Given the description of an element on the screen output the (x, y) to click on. 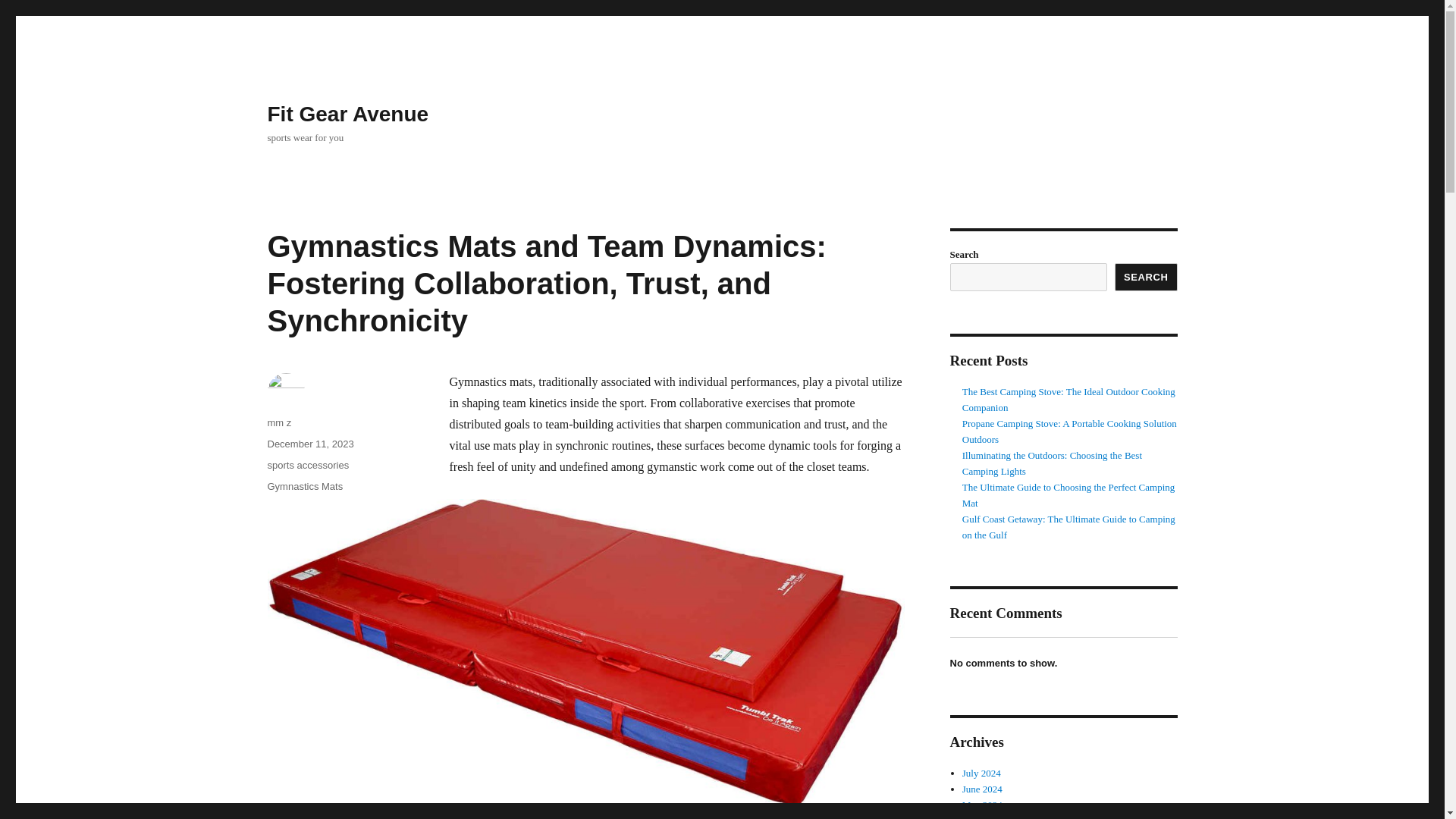
Fit Gear Avenue (347, 114)
mm z (278, 422)
The Ultimate Guide to Choosing the Perfect Camping Mat (1068, 494)
The Best Camping Stove: The Ideal Outdoor Cooking Companion (1068, 399)
sports accessories (307, 464)
Illuminating the Outdoors: Choosing the Best Camping Lights (1051, 462)
May 2024 (982, 804)
December 11, 2023 (309, 443)
Gymnastics Mats (304, 486)
SEARCH (1146, 276)
April 2024 (984, 816)
June 2024 (982, 788)
July 2024 (981, 772)
Propane Camping Stove: A Portable Cooking Solution Outdoors (1069, 431)
